Given the description of an element on the screen output the (x, y) to click on. 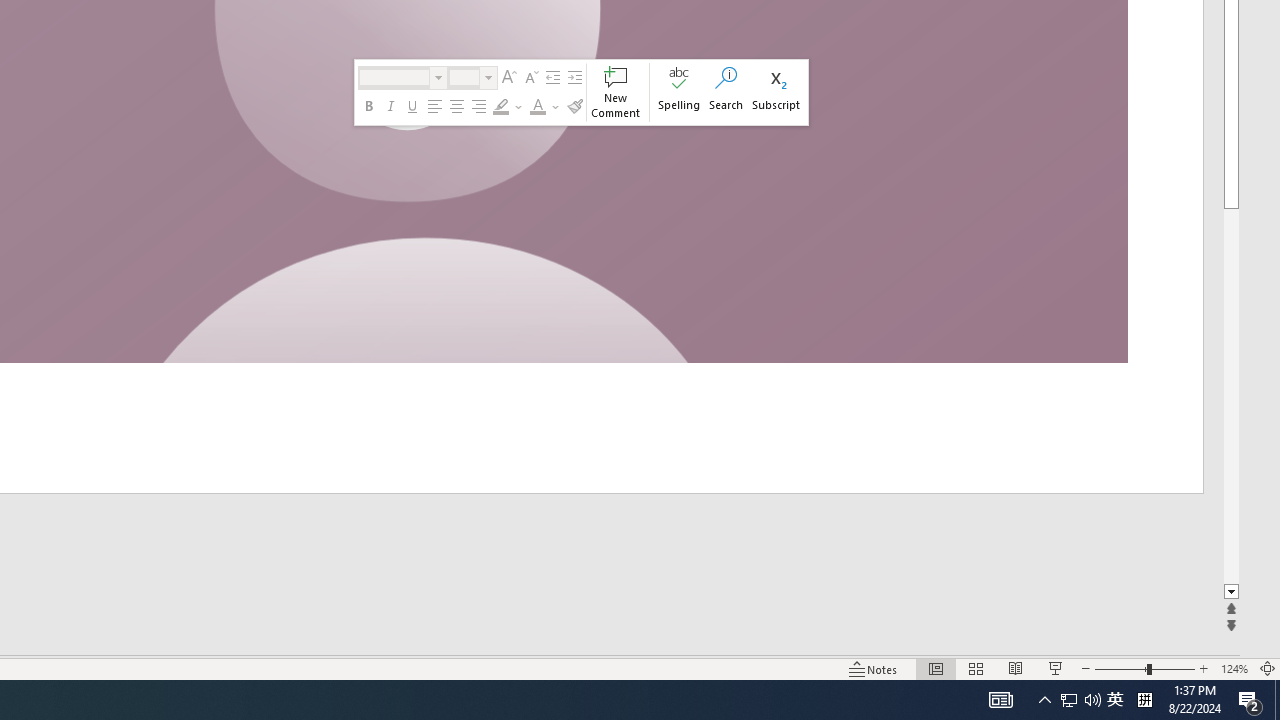
Zoom In (1204, 668)
Notes  (874, 668)
Reading View (1015, 668)
Zoom (1144, 668)
Slide Show (1055, 668)
Center (456, 106)
Format Painter (575, 106)
Align Right (479, 106)
Zoom Out (1120, 668)
Class: NetUIToolWindow (581, 92)
Increase Font Size (508, 78)
New Comment (616, 92)
Font Color (538, 106)
Italic (390, 106)
Zoom to Fit  (1267, 668)
